Given the description of an element on the screen output the (x, y) to click on. 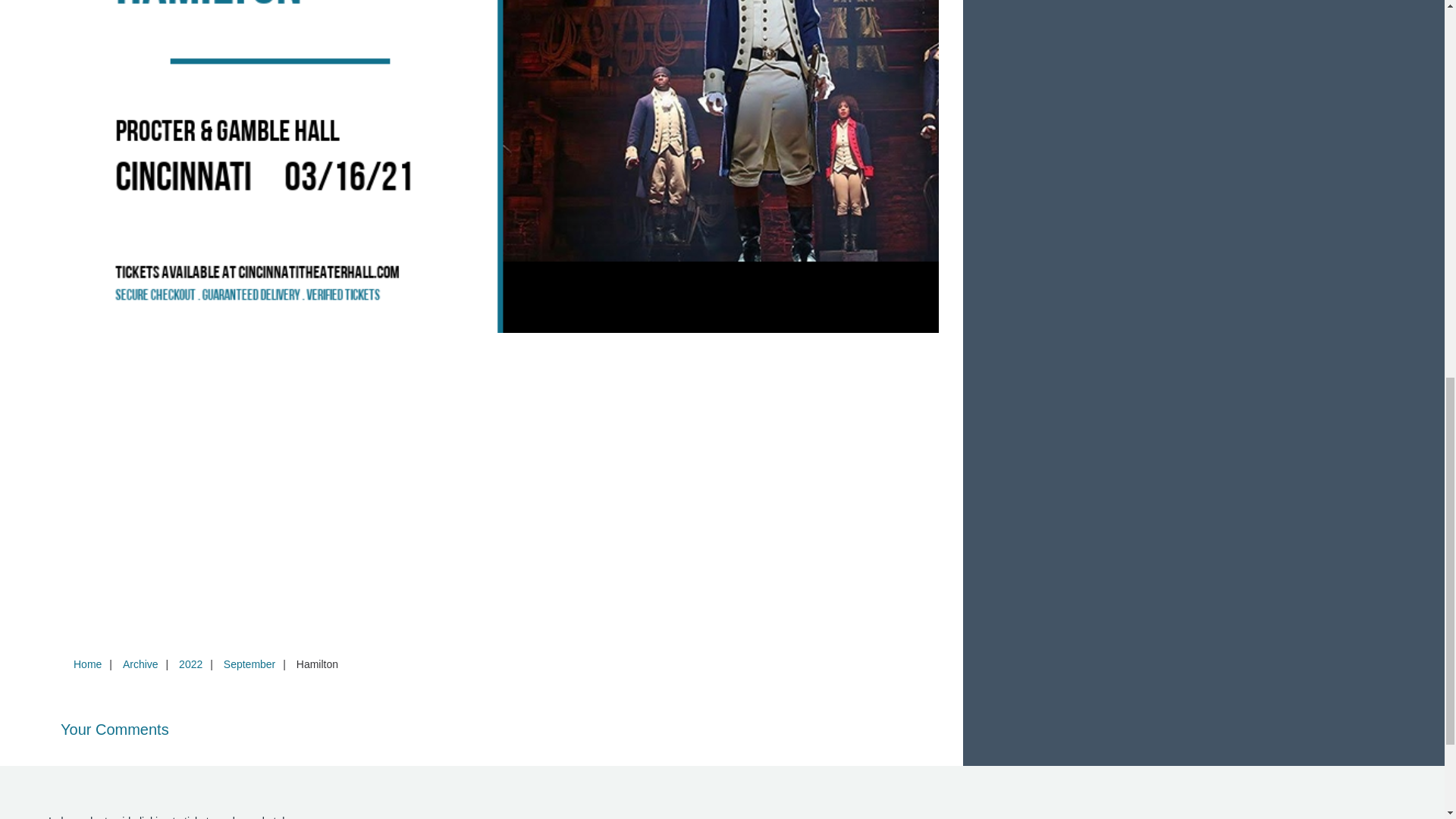
September (248, 664)
Archive (140, 664)
VIEW ALL EVENTS (1203, 2)
2022 (190, 664)
Home (87, 664)
